Given the description of an element on the screen output the (x, y) to click on. 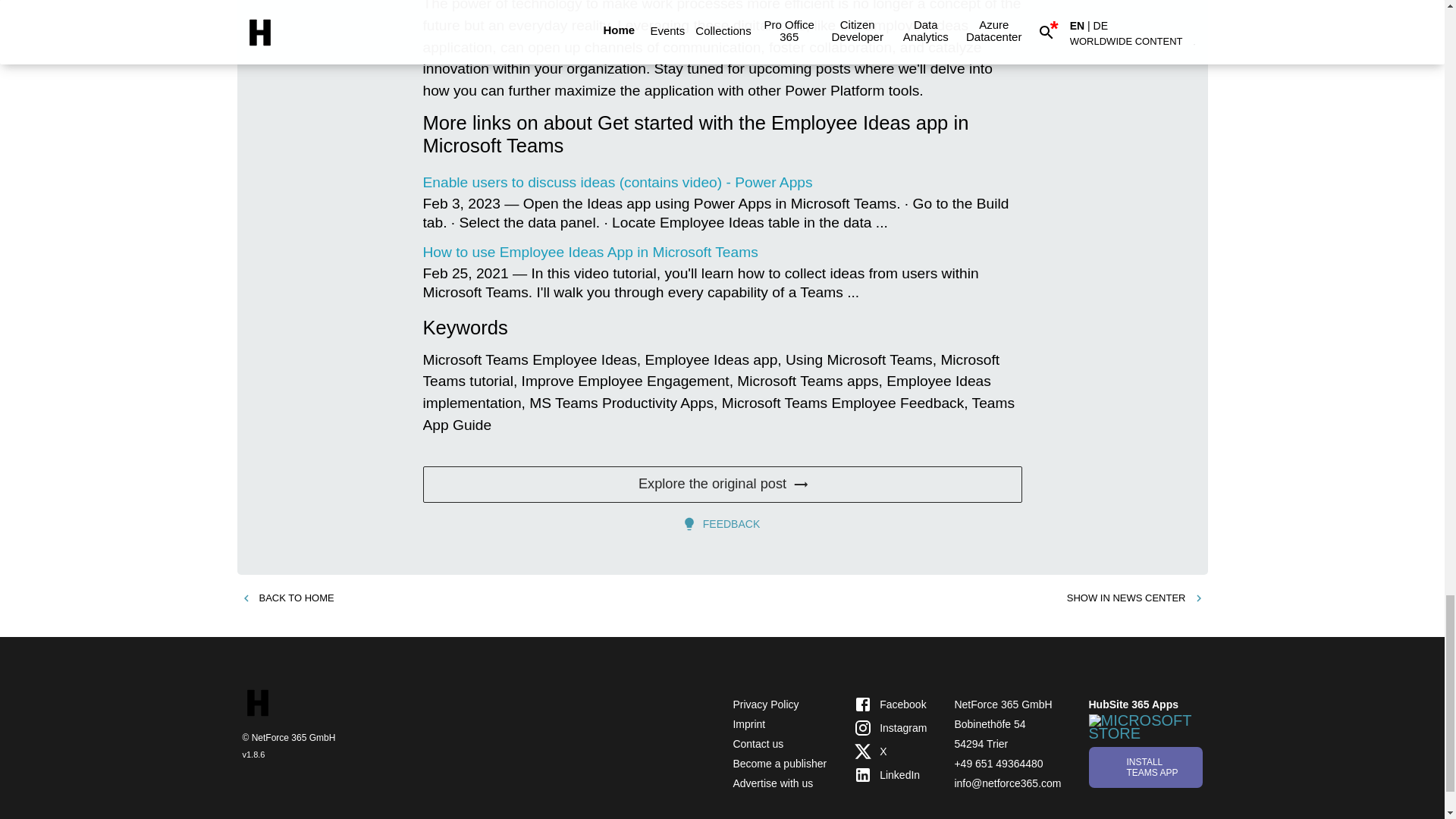
LinkedIn (889, 774)
NetForce 365 GmbH (1002, 704)
Explore the original post (722, 484)
FEEDBACK (721, 524)
Contact us (757, 743)
How to use Employee Ideas App in Microsoft Teams (590, 252)
BACK TO HOME (286, 598)
Instagram (889, 727)
Become a publisher (779, 763)
Install app (1145, 766)
